Given the description of an element on the screen output the (x, y) to click on. 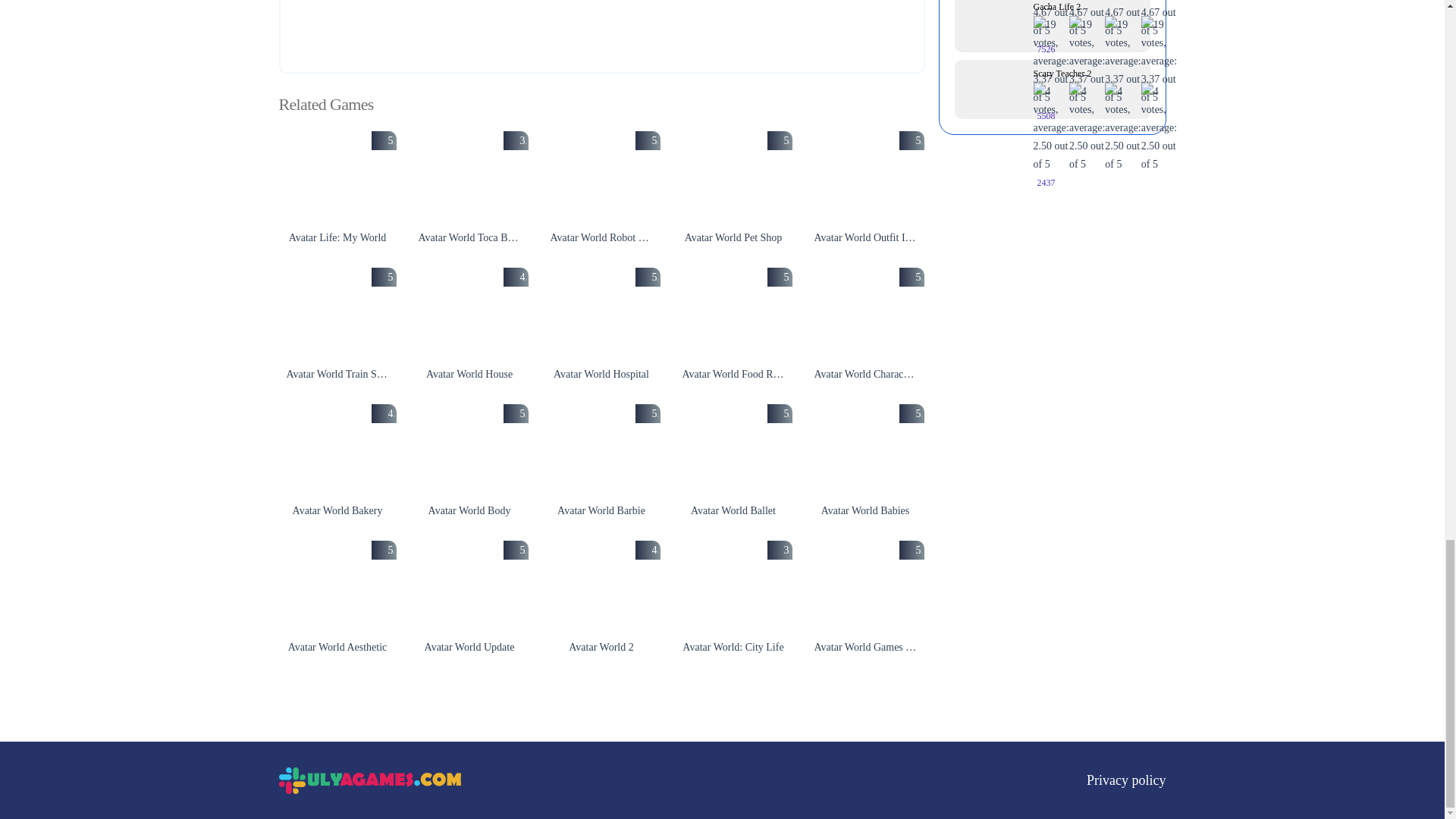
Avatar World Toca Boca (469, 238)
Avatar World Pet Shop (733, 177)
Avatar World Toca Boca (469, 177)
Avatar World Robot Parts (602, 177)
Avatar Life: My World (337, 238)
Avatar Life: My World (337, 177)
Avatar World Robot Parts (602, 238)
